Given the description of an element on the screen output the (x, y) to click on. 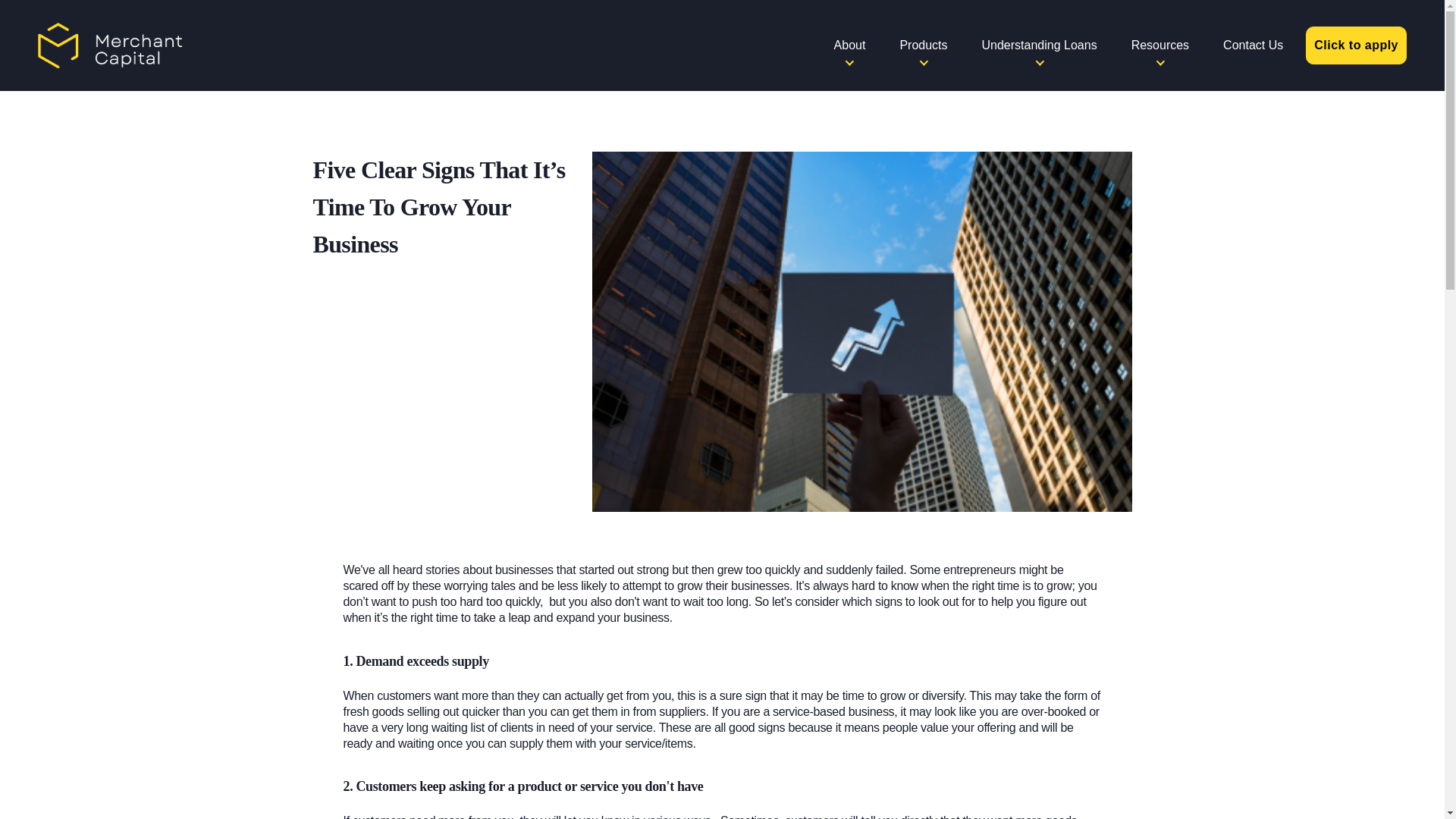
Products (923, 45)
Contact Us (1252, 45)
Click to apply (1356, 45)
Understanding Loans (1039, 45)
Resources (1160, 45)
